Given the description of an element on the screen output the (x, y) to click on. 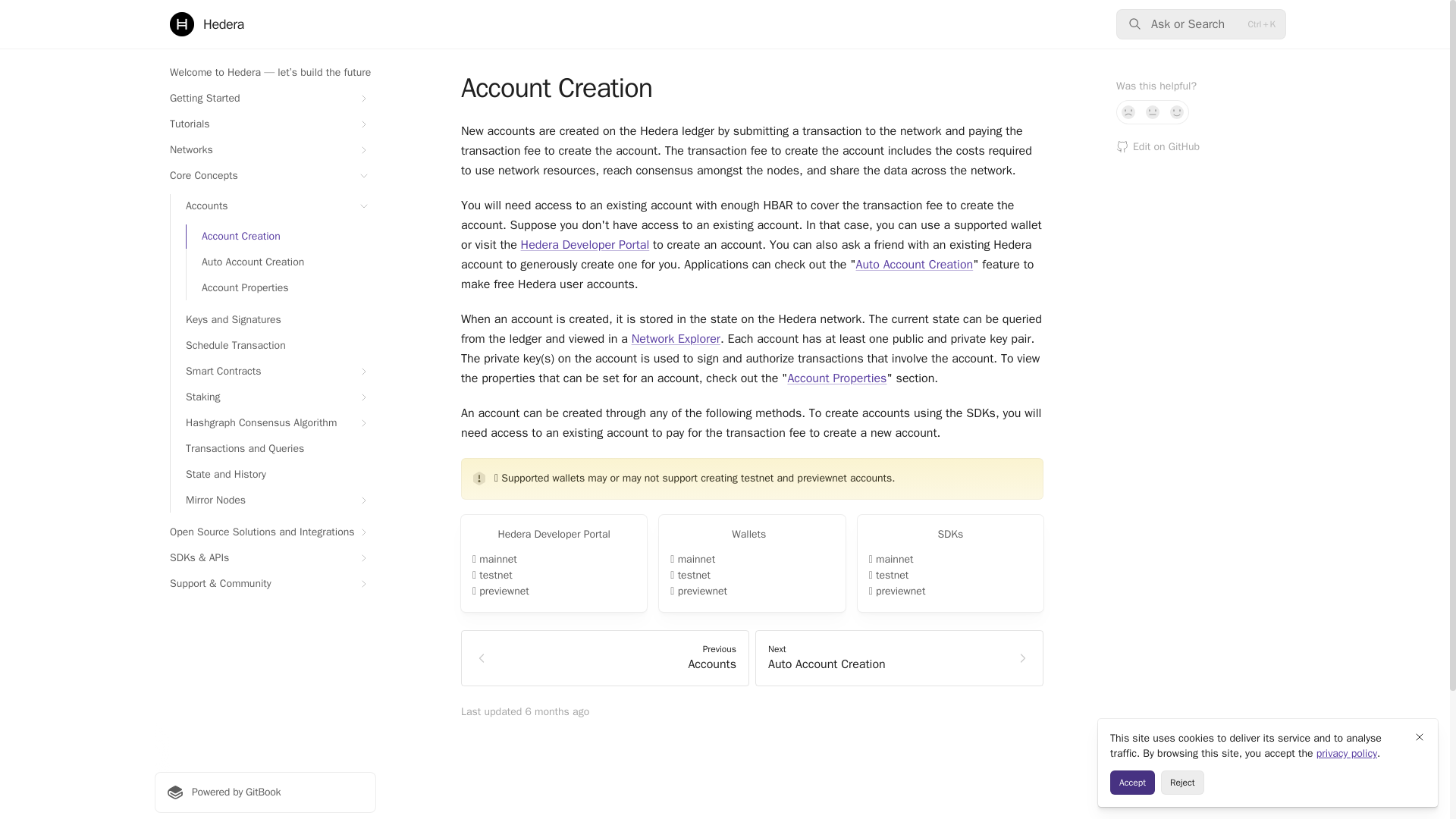
Not sure (1200, 395)
No (1152, 111)
Getting Started (1128, 111)
Tutorials (264, 98)
Hedera (264, 124)
Yes, it was! (207, 24)
Close (1176, 111)
